Given the description of an element on the screen output the (x, y) to click on. 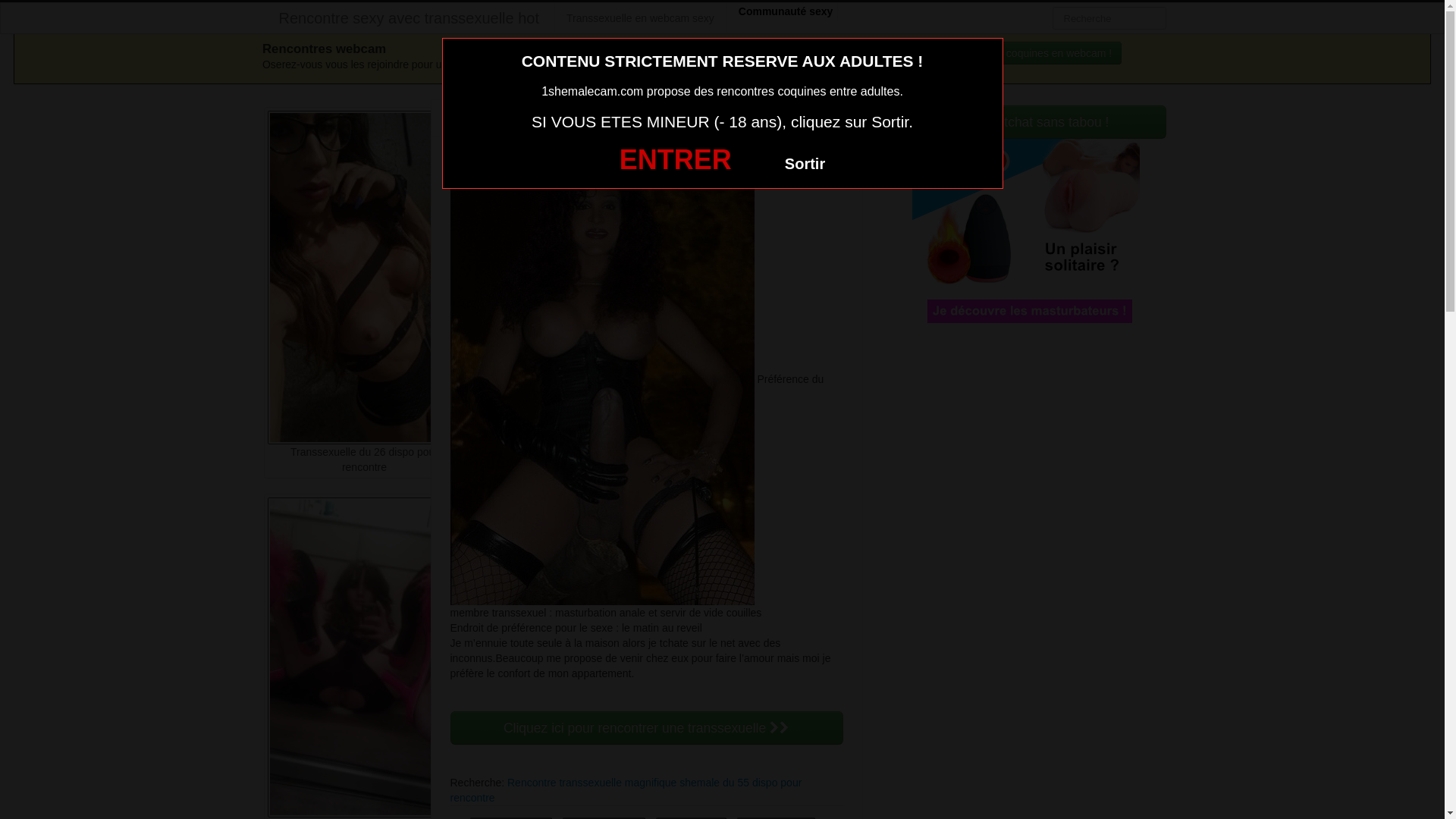
Transsexuelle du 26 dispo pour rencontre Element type: text (363, 370)
Cliquez ici pour rencontrer une transsexuelle Element type: text (646, 727)
Rejoins le tchat sans tabou ! Element type: text (1025, 121)
magnifique shemale du 55 dispo pour rencontre Element type: text (626, 789)
Rejoins les coquines en webcam ! Element type: text (1025, 52)
Sortir Element type: text (804, 163)
Transsexuelle en webcam sexy Element type: text (640, 18)
ENTRER Element type: text (675, 159)
Rencontre sexy avec transsexuelle hot Element type: text (409, 18)
Rencontre transsexuelle Element type: text (564, 782)
